Given the description of an element on the screen output the (x, y) to click on. 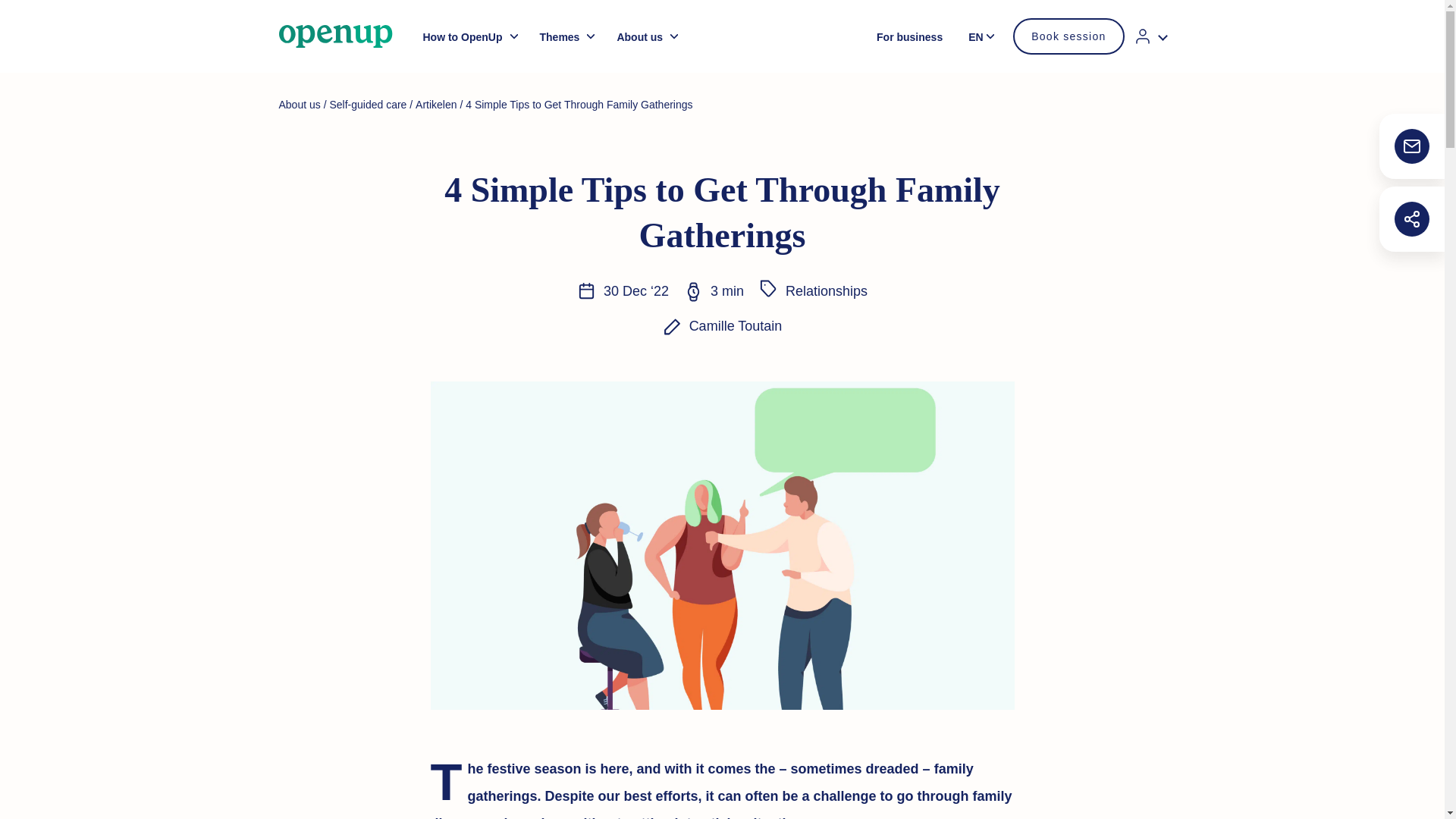
How to OpenUp (467, 35)
EN (984, 35)
About us (645, 35)
Themes (564, 35)
For business (909, 35)
Book session (1068, 36)
